Given the description of an element on the screen output the (x, y) to click on. 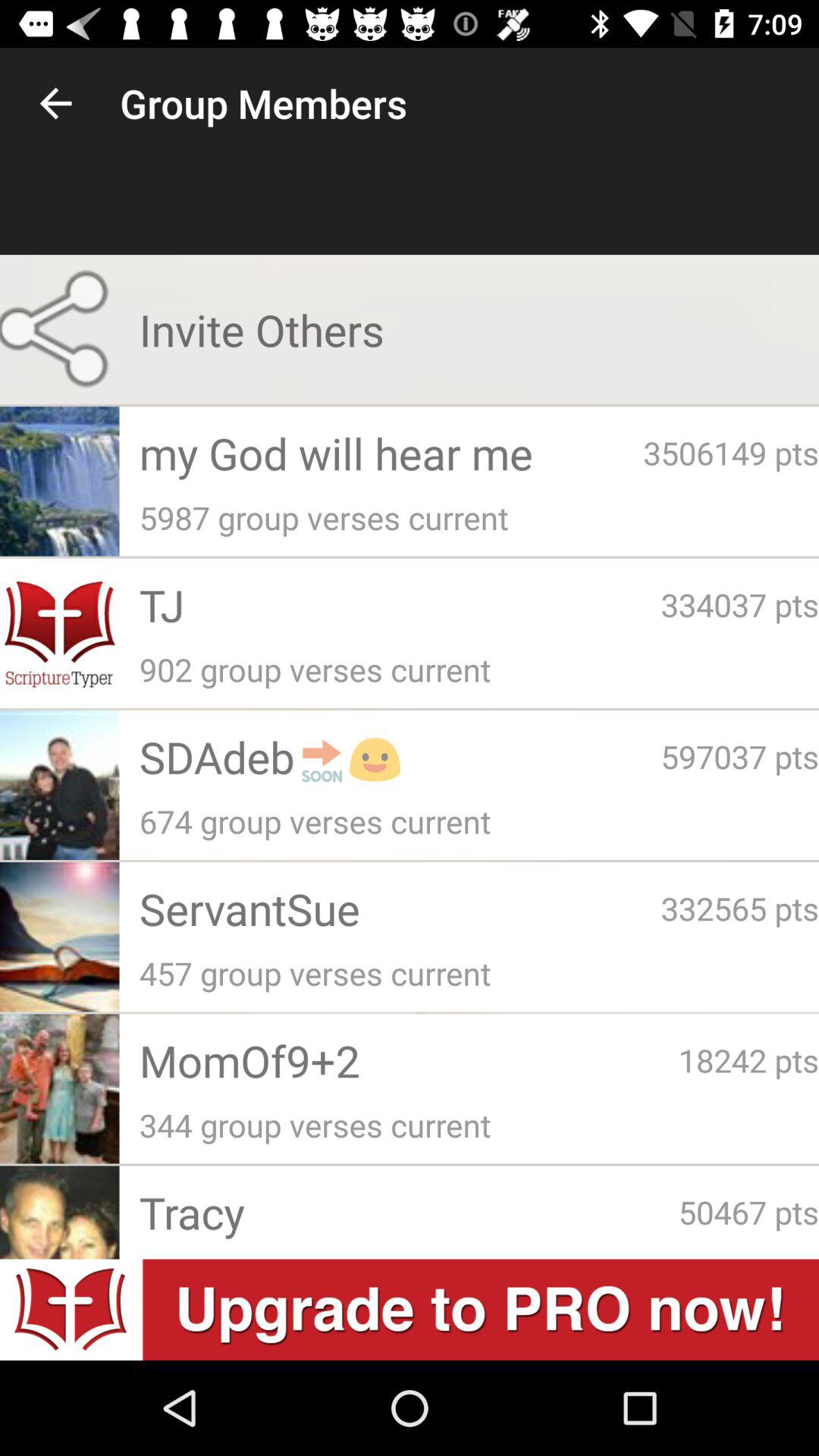
turn on icon above the 5987 group verses (731, 452)
